Given the description of an element on the screen output the (x, y) to click on. 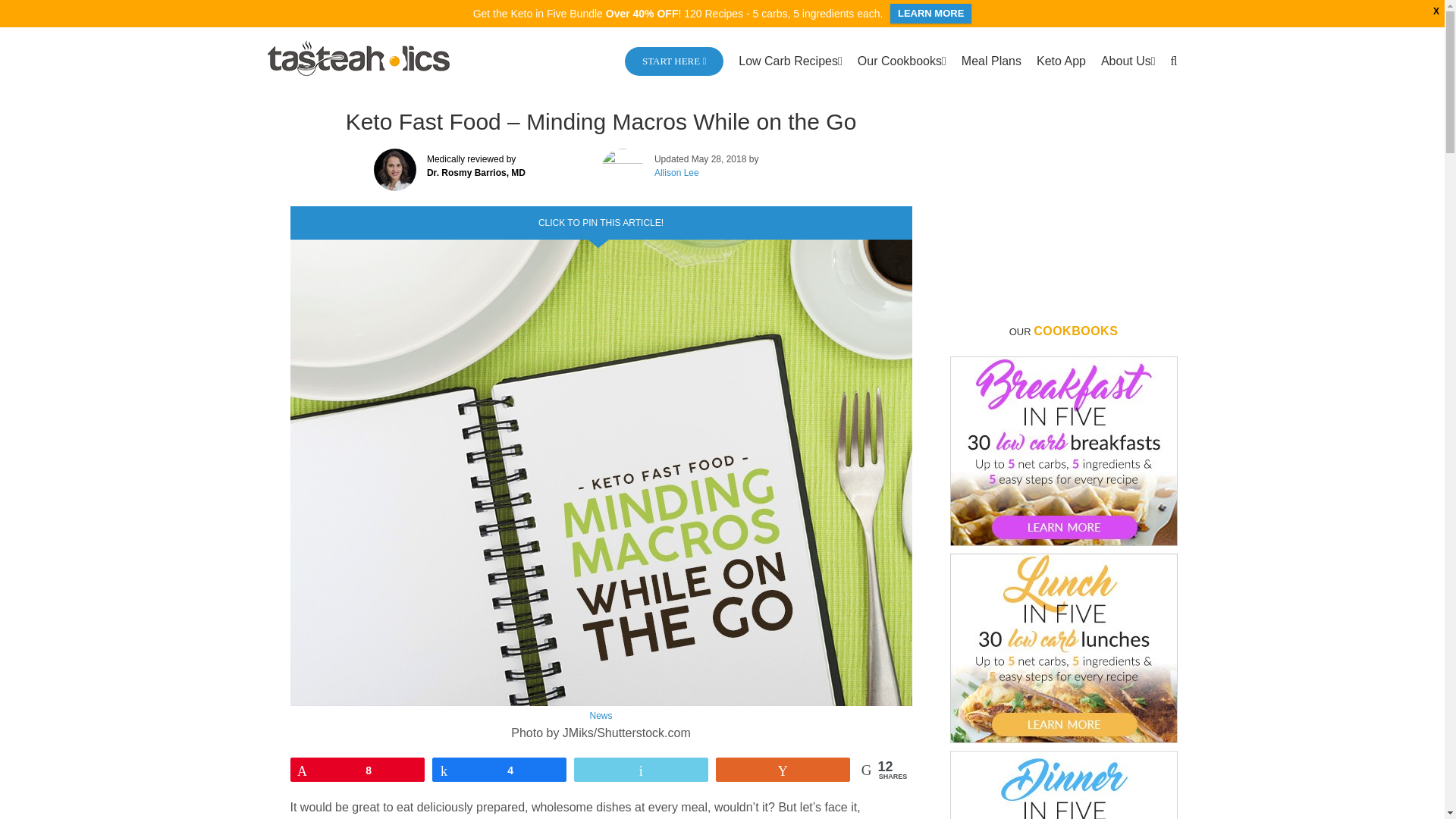
Posts by Allison Lee (675, 172)
Low Carb Recipes (790, 59)
START HERE (673, 59)
Our Cookbooks (901, 59)
LEARN MORE (930, 13)
